Given the description of an element on the screen output the (x, y) to click on. 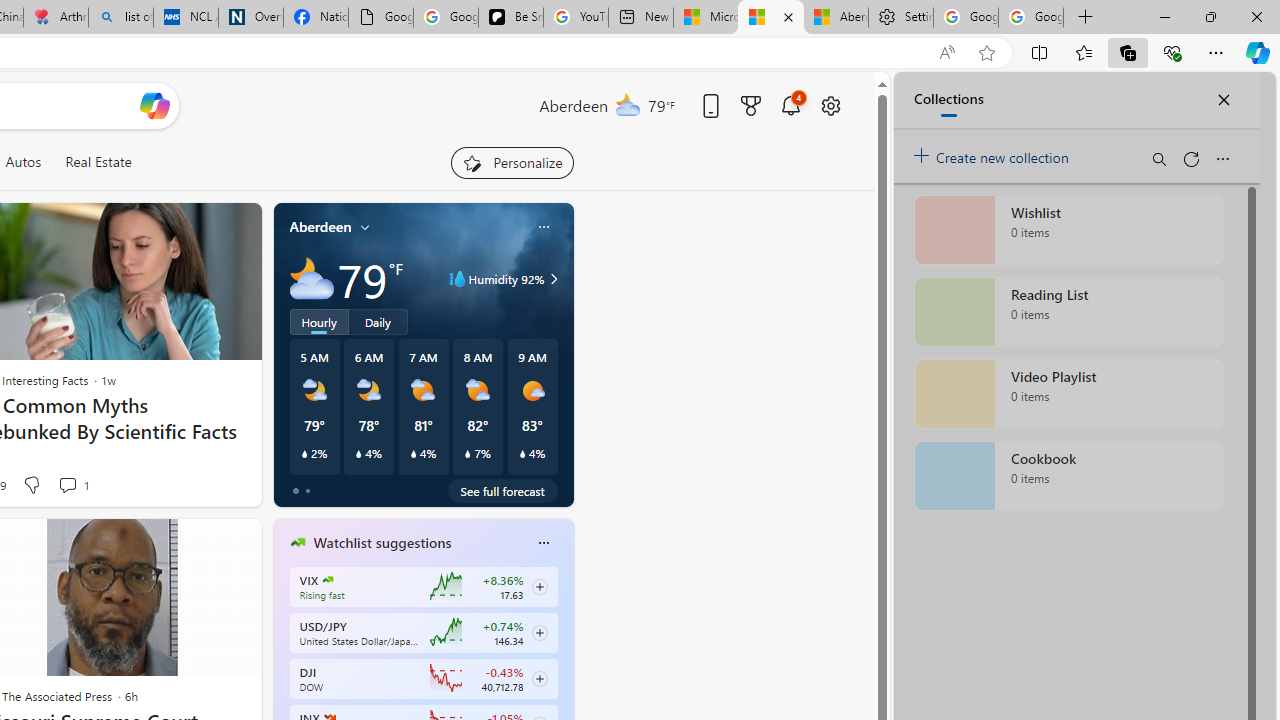
My location (365, 227)
